Given the description of an element on the screen output the (x, y) to click on. 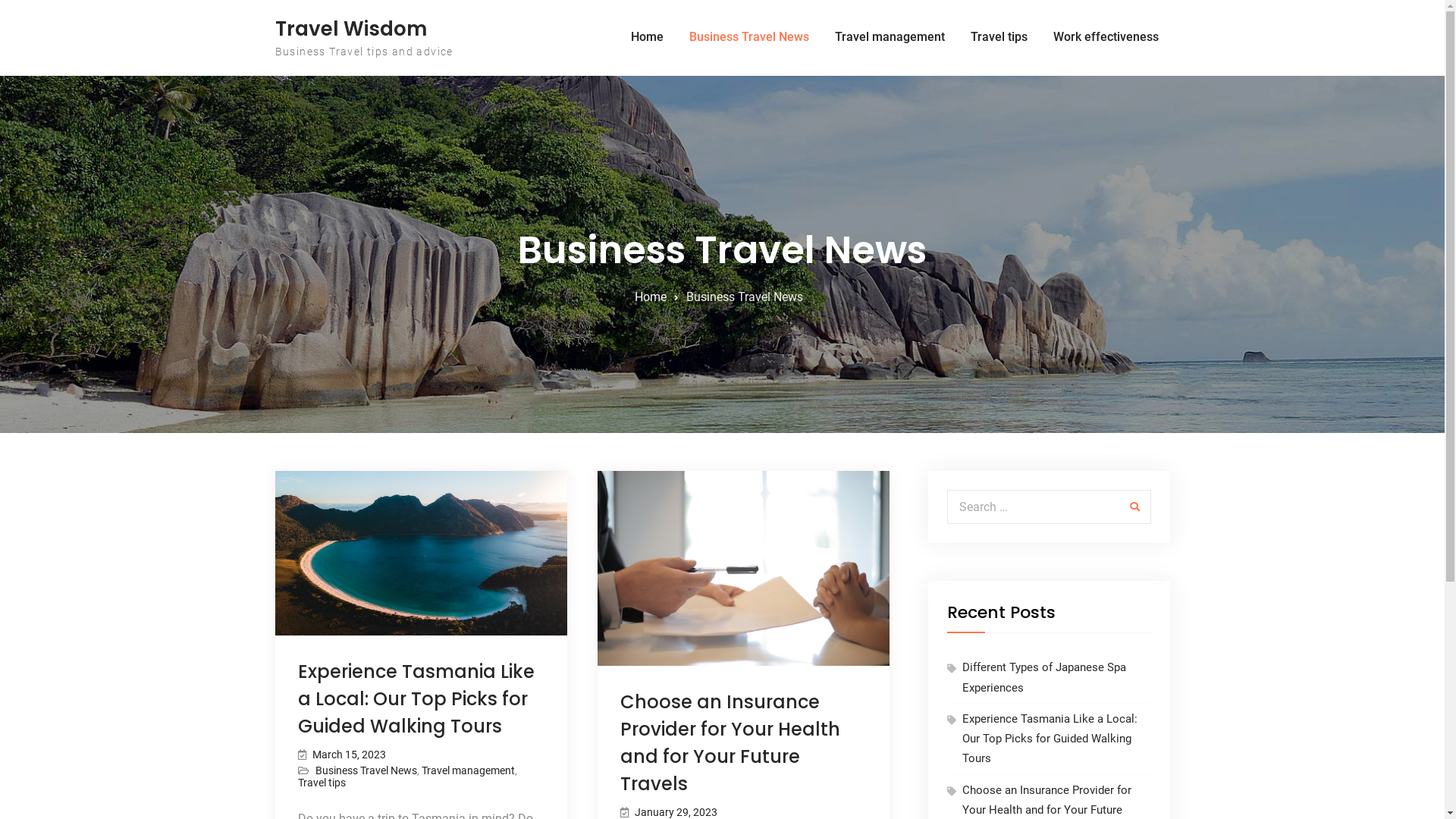
Business Travel News Element type: text (366, 770)
Travel management Element type: text (467, 770)
January 29, 2023 Element type: text (674, 812)
Work effectiveness Element type: text (1105, 36)
Travel Wisdom Element type: text (350, 28)
Travel tips Element type: text (998, 36)
Business Travel News Element type: text (748, 36)
Home Element type: text (646, 36)
Skip to content Element type: text (0, 0)
Different Types of Japanese Spa Experiences Element type: text (1043, 676)
Home Element type: text (649, 296)
Travel tips Element type: text (321, 782)
Travel management Element type: text (889, 36)
March 15, 2023 Element type: text (348, 754)
